Given the description of an element on the screen output the (x, y) to click on. 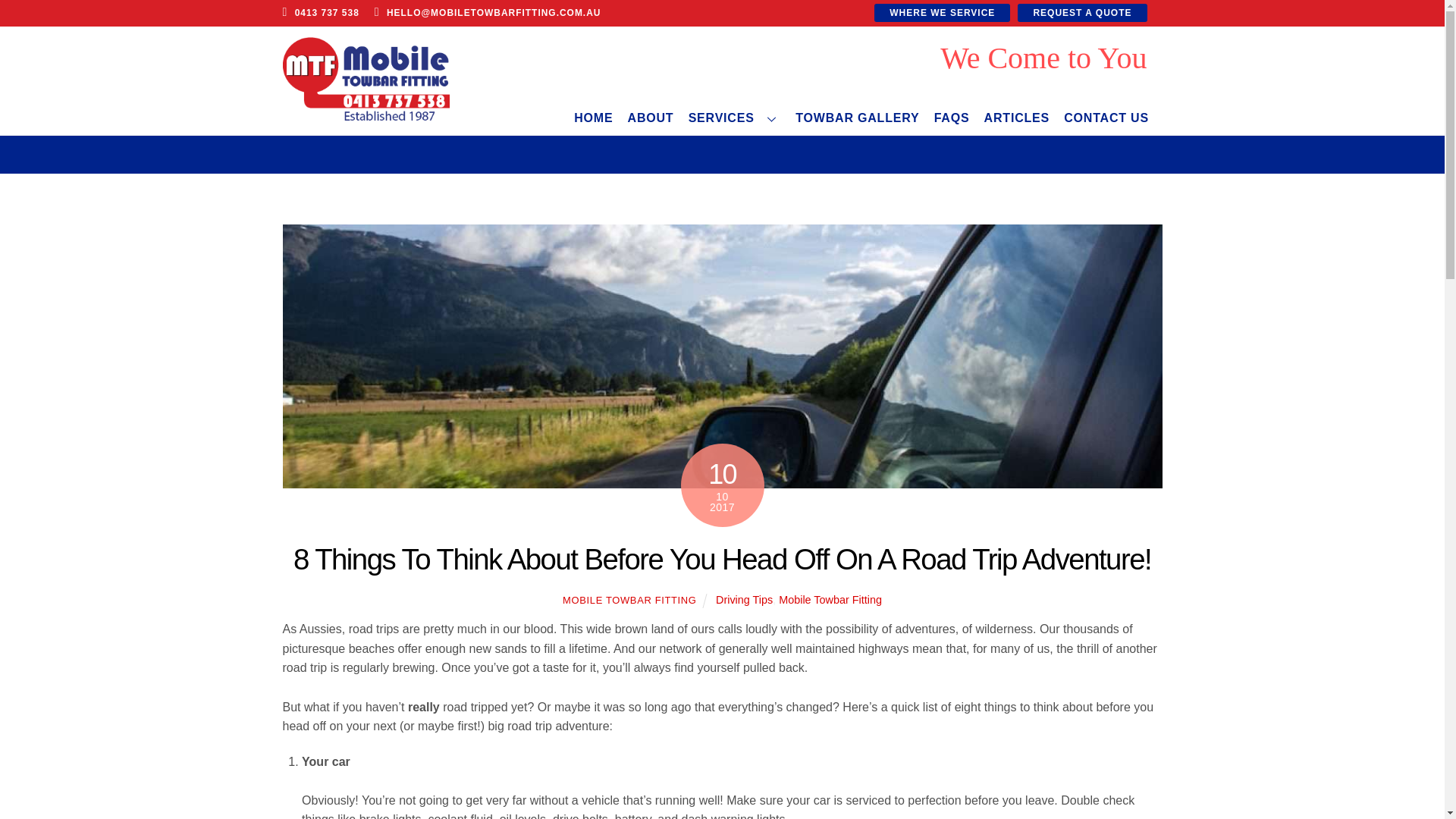
TOWBAR GALLERY (857, 117)
0413 737 538 (320, 12)
REQUEST A QUOTE (1082, 13)
MOBILE TOWBAR FITTING (629, 600)
WHERE WE SERVICE (804, 80)
CONTACT US (942, 13)
ARTICLES (1106, 117)
